Given the description of an element on the screen output the (x, y) to click on. 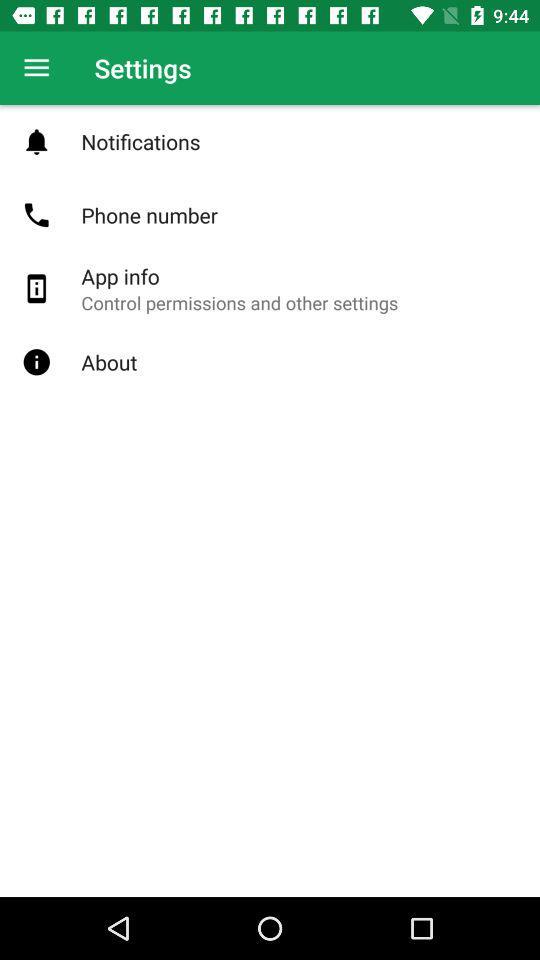
tap icon to the left of settings (36, 68)
